Given the description of an element on the screen output the (x, y) to click on. 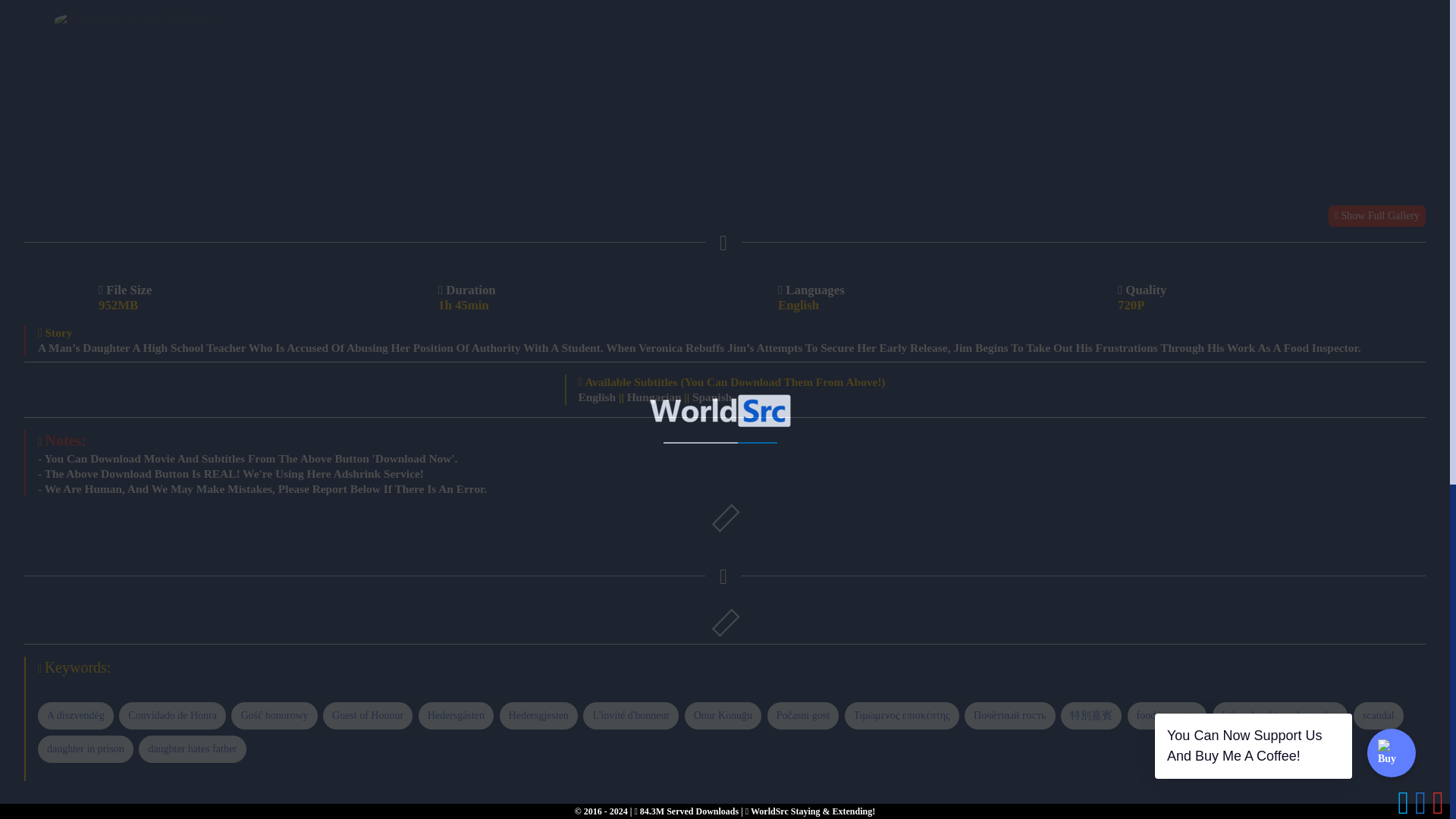
Convidado de Honra (172, 737)
Show Full Gallery (1376, 215)
Spanish (712, 396)
Hungarian (654, 396)
English (596, 396)
